Given the description of an element on the screen output the (x, y) to click on. 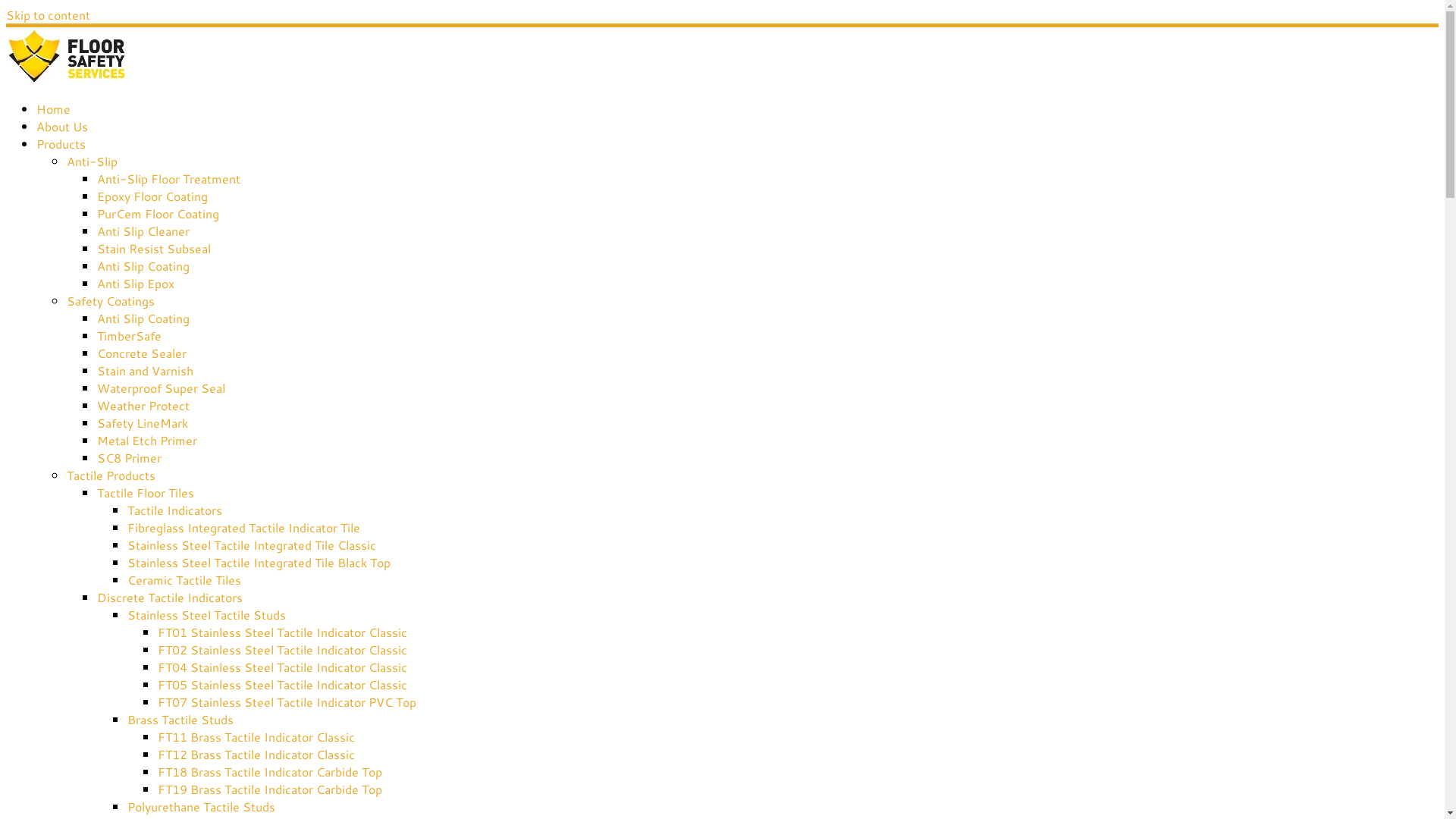
FT18 Brass Tactile Indicator Carbide Top Element type: text (269, 771)
Anti Slip Cleaner Element type: text (143, 230)
Waterproof Super Seal Element type: text (161, 387)
Anti Slip Epox Element type: text (135, 282)
Fibreglass Integrated Tactile Indicator Tile Element type: text (243, 527)
PurCem Floor Coating Element type: text (158, 213)
Stainless Steel Tactile Studs Element type: text (206, 614)
Stainless Steel Tactile Integrated Tile Black Top Element type: text (258, 562)
FT12 Brass Tactile Indicator Classic Element type: text (255, 753)
Metal Etch Primer Element type: text (147, 439)
Anti Slip Coating Element type: text (143, 265)
FT01 Stainless Steel Tactile Indicator Classic Element type: text (282, 631)
Anti-Slip Floor Treatment Element type: text (168, 178)
Polyurethane Tactile Studs Element type: text (201, 806)
Concrete Sealer Element type: text (141, 352)
About Us Element type: text (61, 125)
FT02 Stainless Steel Tactile Indicator Classic Element type: text (282, 649)
FT04 Stainless Steel Tactile Indicator Classic Element type: text (282, 666)
Anti Slip Coating Element type: text (143, 317)
TimberSafe Element type: text (129, 335)
Epoxy Floor Coating Element type: text (152, 195)
SC8 Primer Element type: text (129, 457)
FT11 Brass Tactile Indicator Classic Element type: text (255, 736)
Ceramic Tactile Tiles Element type: text (184, 579)
Anti-Slip Element type: text (91, 160)
Tactile Floor Tiles Element type: text (145, 492)
Skip to content Element type: text (48, 14)
Products Element type: text (60, 143)
Weather Protect Element type: text (143, 405)
Tactile Products Element type: text (110, 474)
Brass Tactile Studs Element type: text (180, 719)
Stain and Varnish Element type: text (145, 370)
FT07 Stainless Steel Tactile Indicator PVC Top Element type: text (286, 701)
FT05 Stainless Steel Tactile Indicator Classic Element type: text (282, 684)
Tactile Indicators Element type: text (174, 509)
FT19 Brass Tactile Indicator Carbide Top Element type: text (269, 788)
Home Element type: text (53, 108)
Discrete Tactile Indicators Element type: text (169, 596)
Stainless Steel Tactile Integrated Tile Classic Element type: text (251, 544)
Stain Resist Subseal Element type: text (153, 248)
Safety LineMark Element type: text (142, 422)
Safety Coatings Element type: text (110, 300)
